Given the description of an element on the screen output the (x, y) to click on. 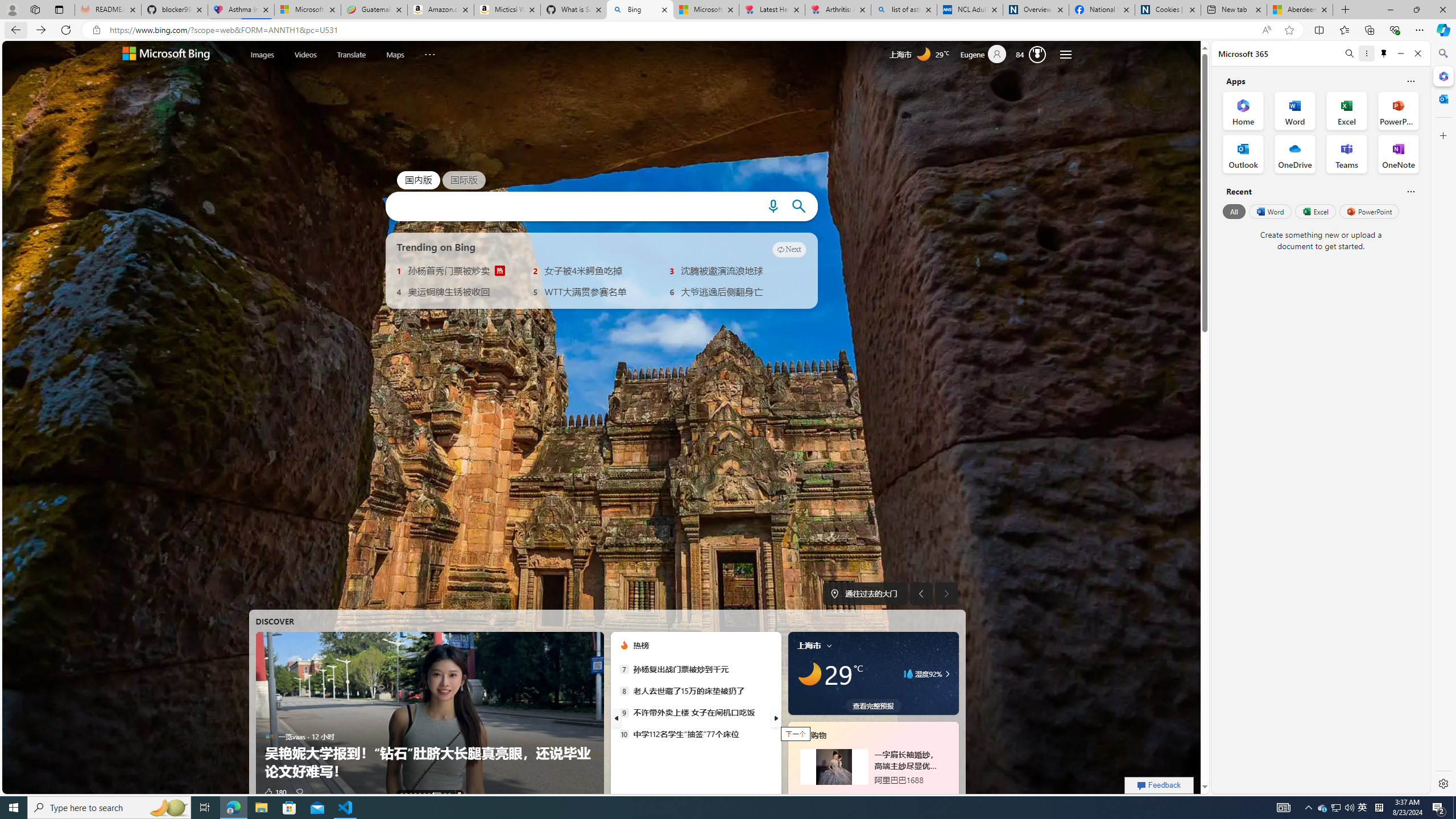
Next (788, 248)
Class: scopes  (352, 53)
Cookies | About | NICE (1167, 9)
tab-4 (852, 795)
Excel (1315, 210)
OneNote Office App (1398, 154)
Word Office App (1295, 110)
Previous image (921, 593)
Word (1269, 210)
